Given the description of an element on the screen output the (x, y) to click on. 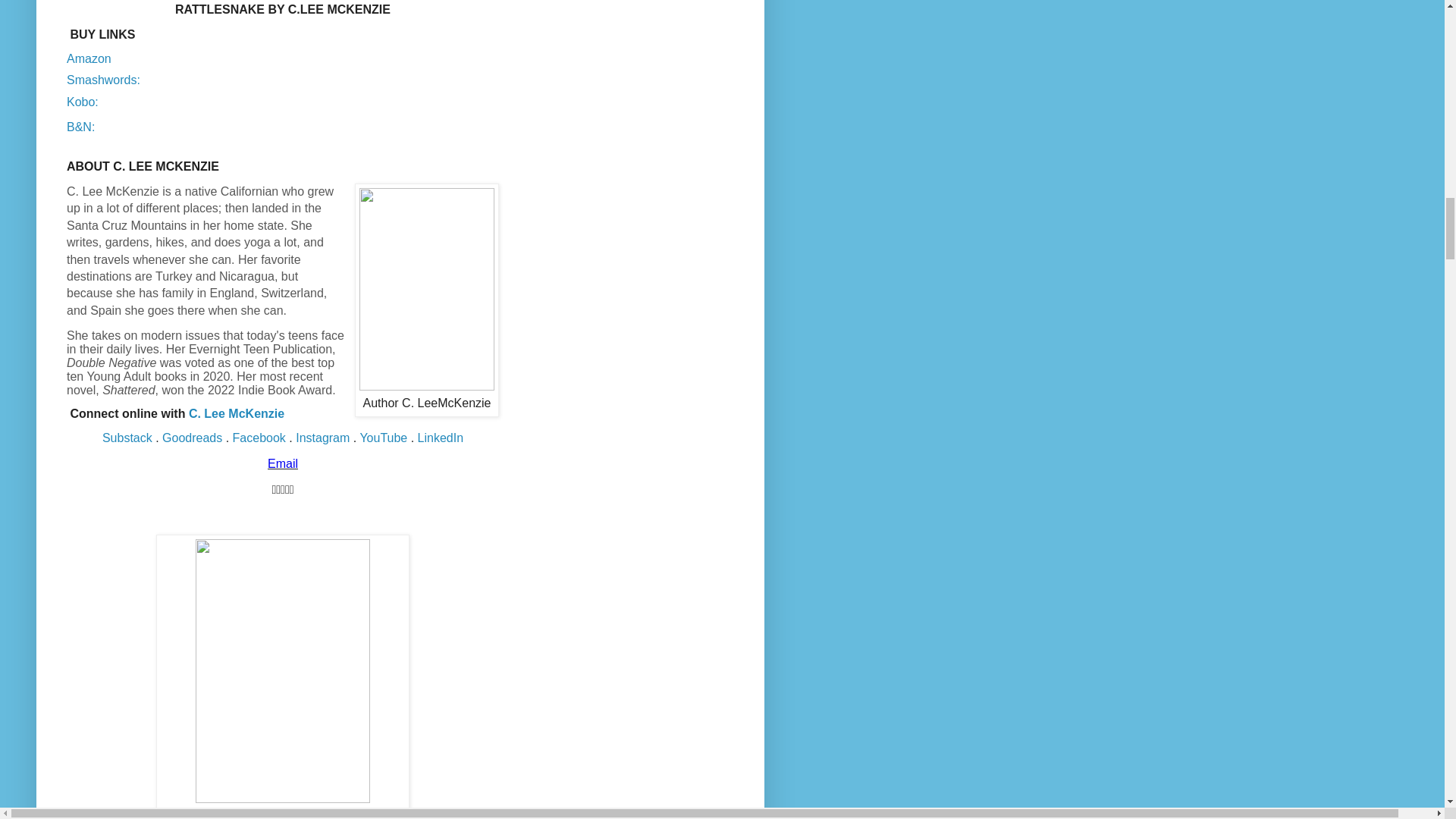
Instagram (322, 437)
Facebook (258, 437)
C. Lee McKenzie (236, 413)
Kobo: (82, 102)
Substack (126, 437)
LinkedIn (440, 437)
YouTube (383, 437)
Amazon (89, 59)
Smashwords: (102, 79)
Goodreads (191, 437)
